Given the description of an element on the screen output the (x, y) to click on. 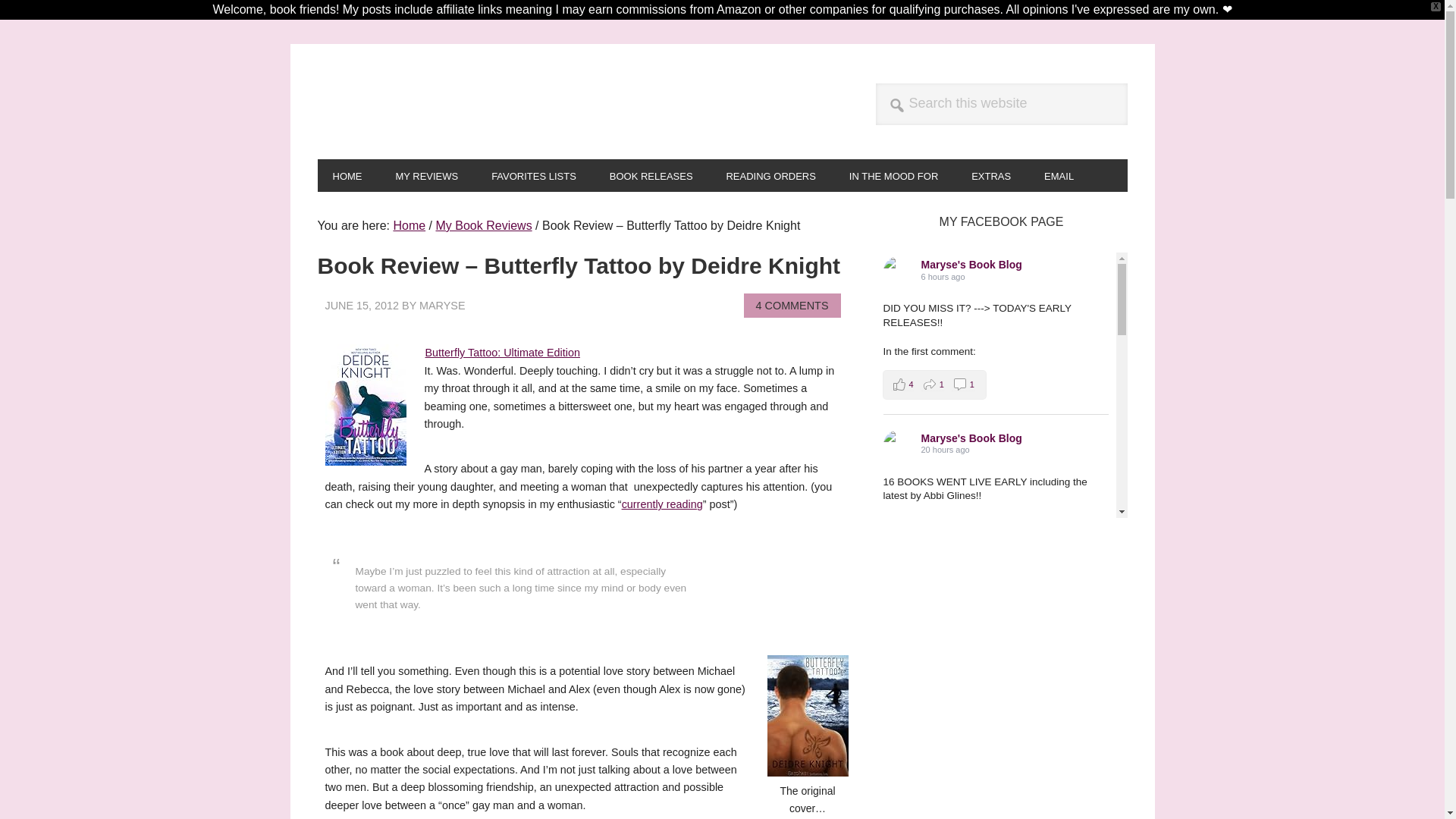
MARYSE'S BOOK BLOG (419, 101)
FAVORITES LISTS (533, 174)
BOOK RELEASES (650, 174)
IN THE MOOD FOR (893, 174)
READING ORDERS (769, 174)
MY REVIEWS (426, 174)
HOME (347, 174)
